Given the description of an element on the screen output the (x, y) to click on. 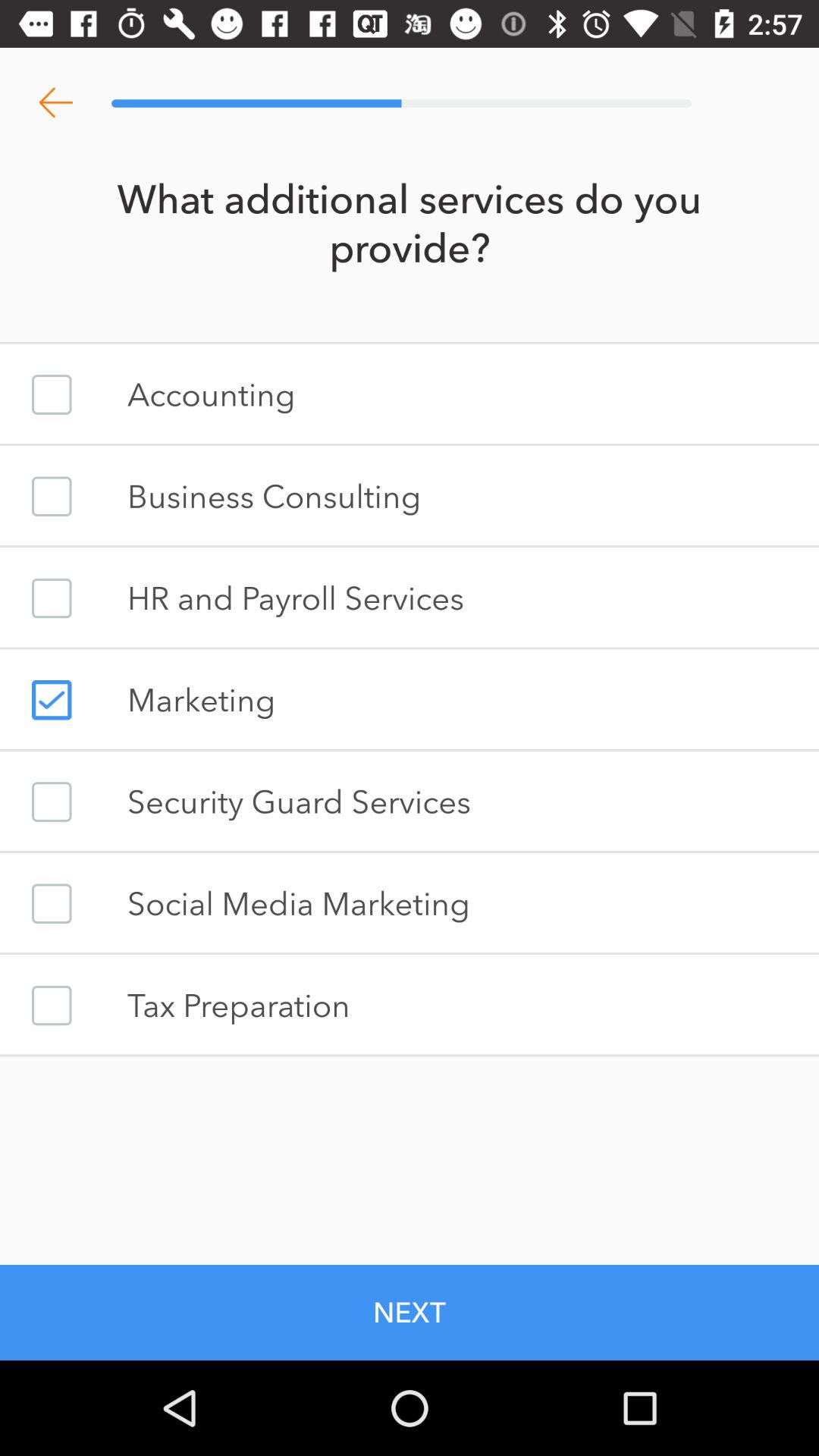
select option (51, 598)
